Given the description of an element on the screen output the (x, y) to click on. 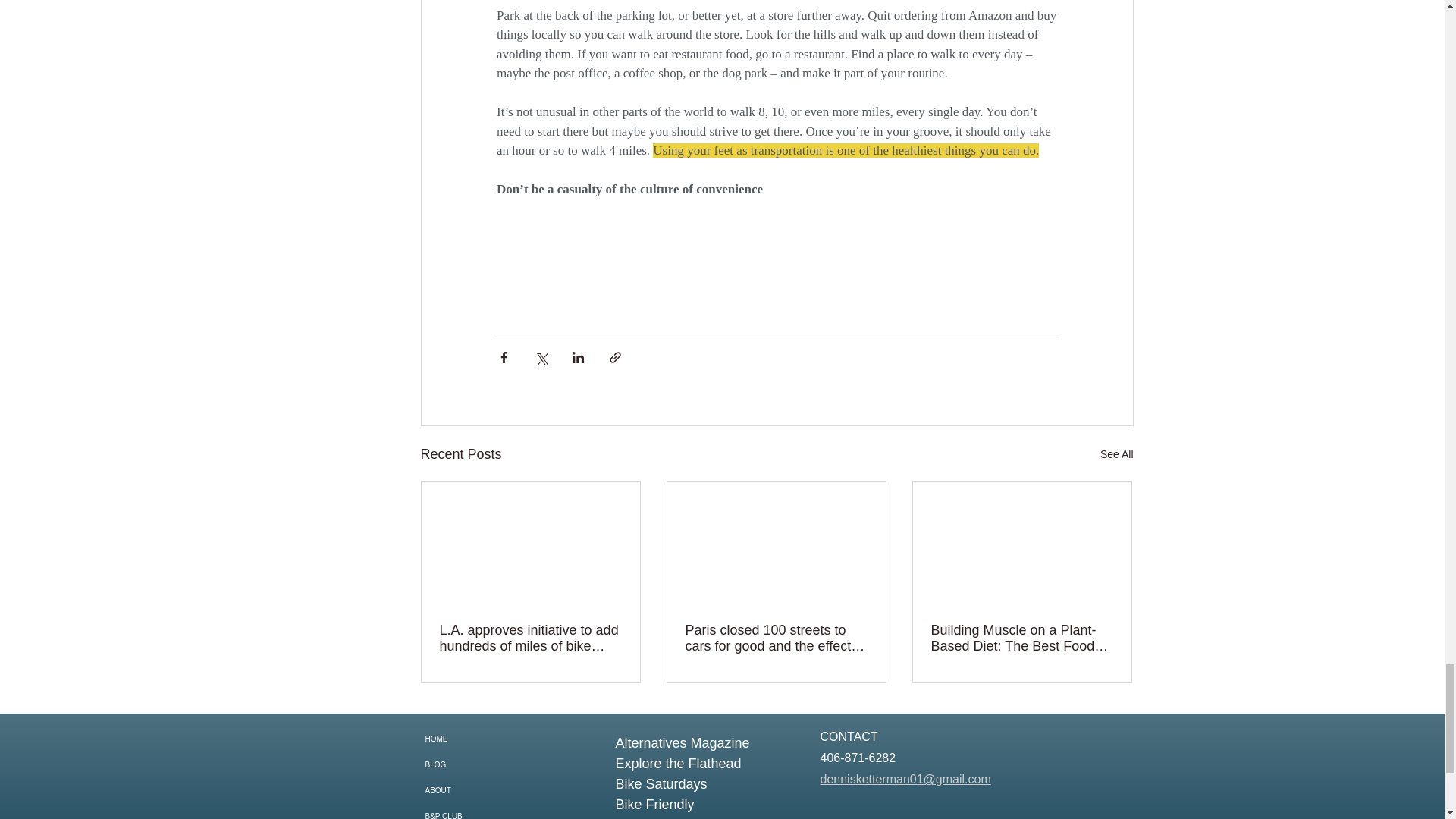
See All (1117, 454)
